Given the description of an element on the screen output the (x, y) to click on. 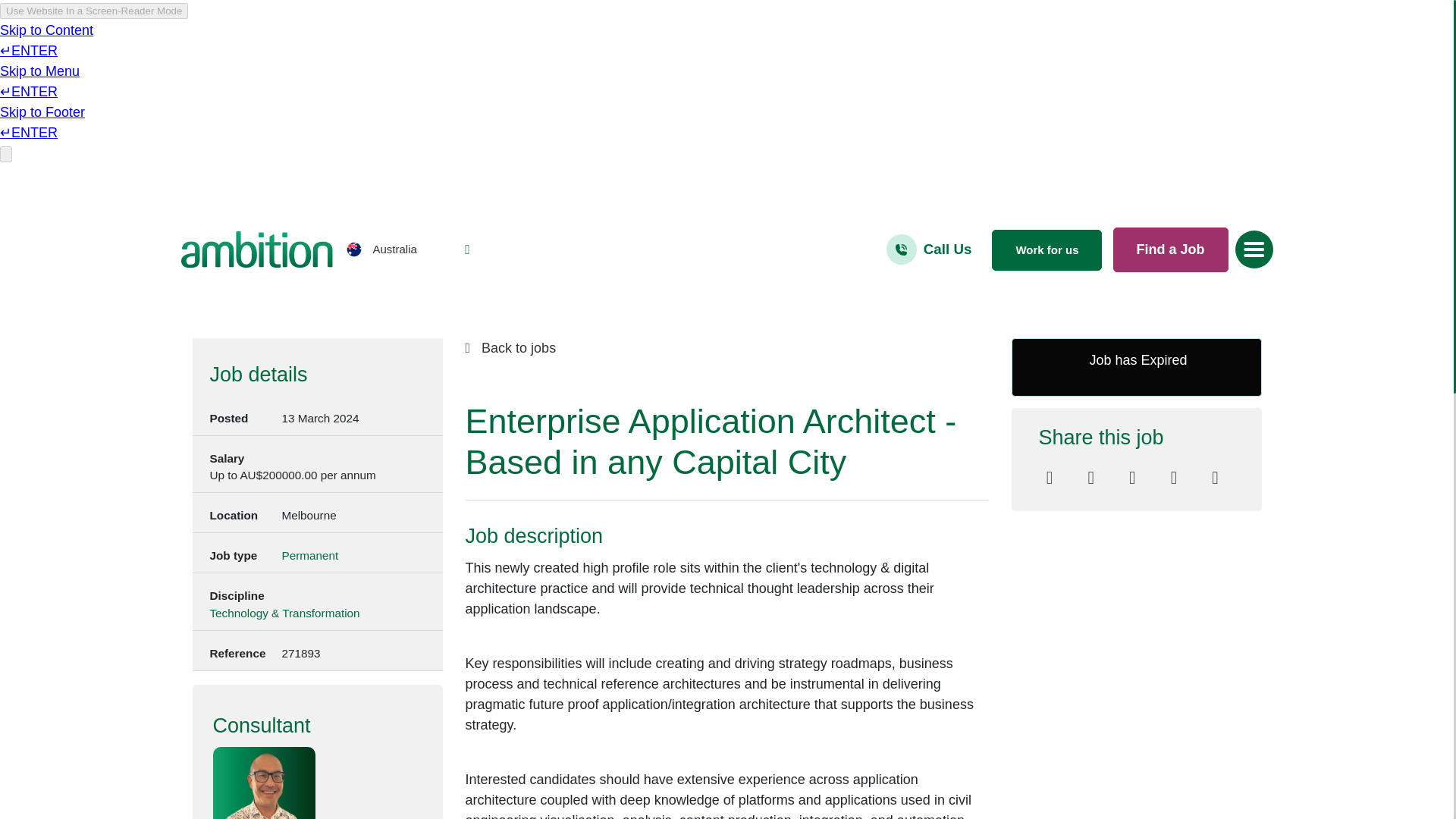
Back to jobs (726, 348)
Call Us (947, 249)
Work for us (1046, 250)
Permanent (309, 556)
Find a Job (1170, 249)
